Given the description of an element on the screen output the (x, y) to click on. 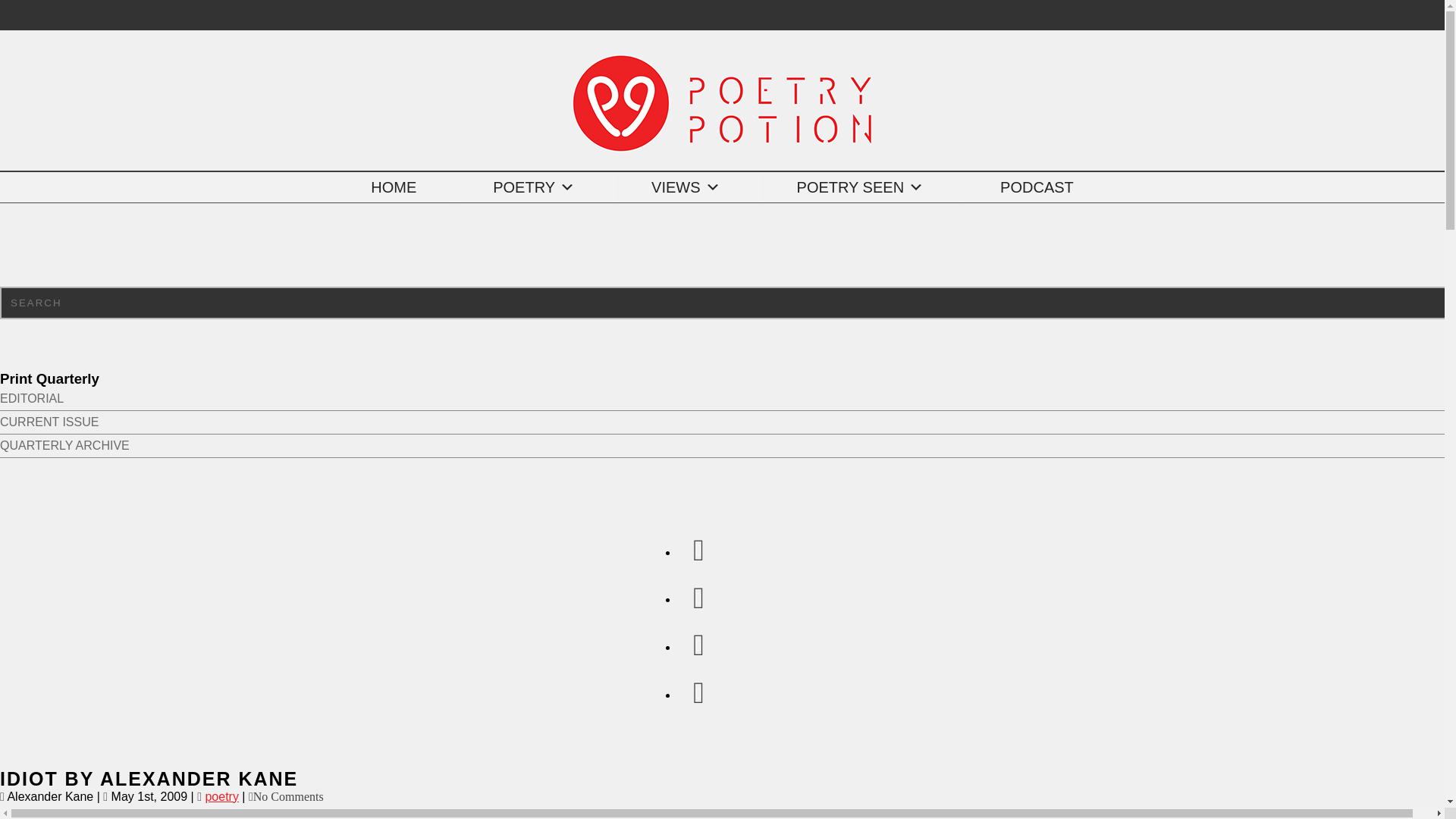
HOME (393, 186)
POETRY (533, 186)
POETRY SEEN (860, 186)
PODCAST (1037, 186)
EDITORIAL (32, 398)
poetry (221, 796)
CURRENT ISSUE (49, 421)
VIEWS (684, 186)
QUARTERLY ARCHIVE (64, 445)
